Given the description of an element on the screen output the (x, y) to click on. 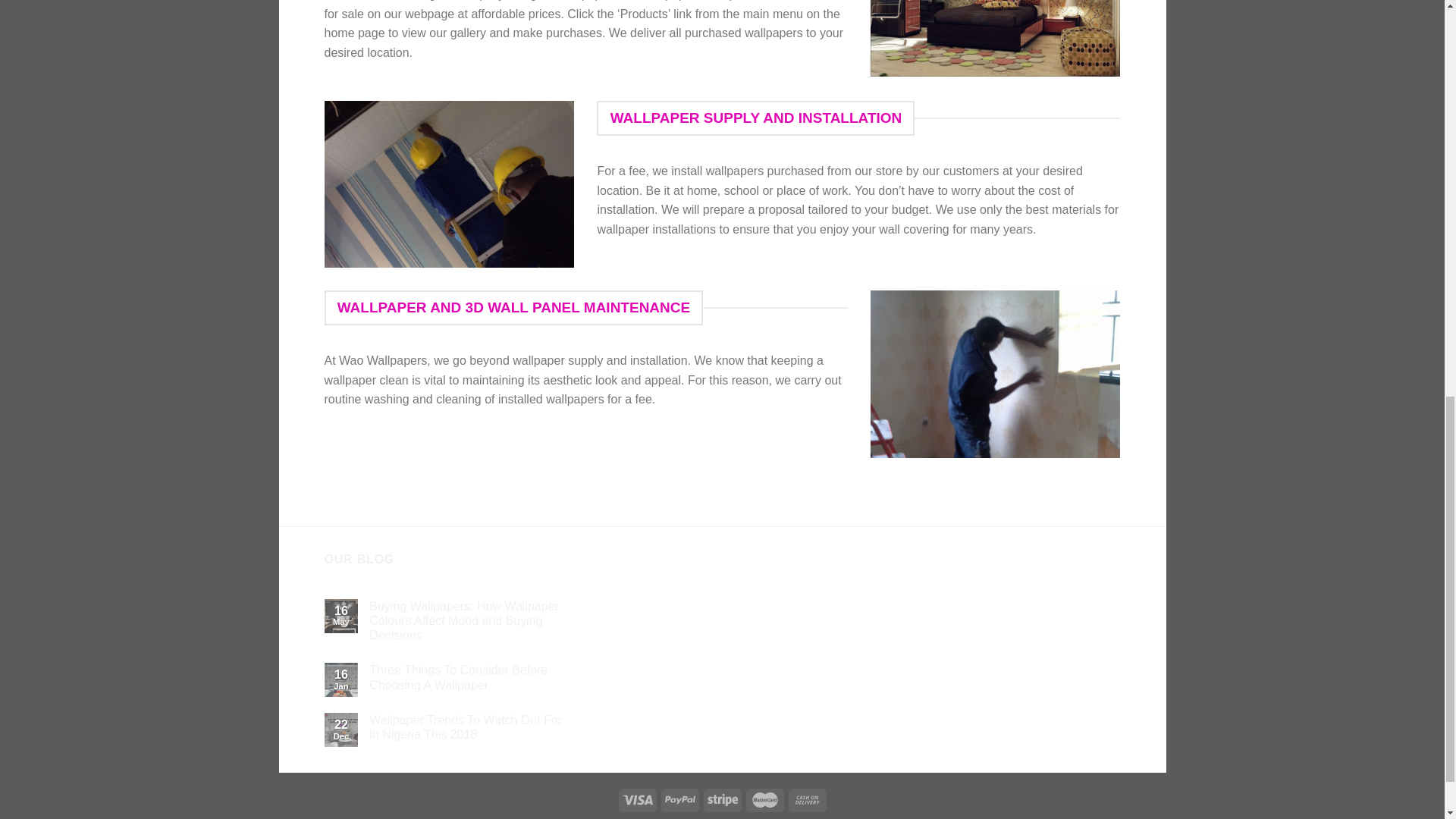
Three Things To Consider Before Choosing A Wallpaper (471, 676)
Wallpaper Trends To Watch Out For in Nigeria This 2018 (471, 727)
Three Things To Consider Before Choosing A Wallpaper (471, 676)
Wallpaper Trends To Watch Out For in Nigeria This 2018 (471, 727)
